Given the description of an element on the screen output the (x, y) to click on. 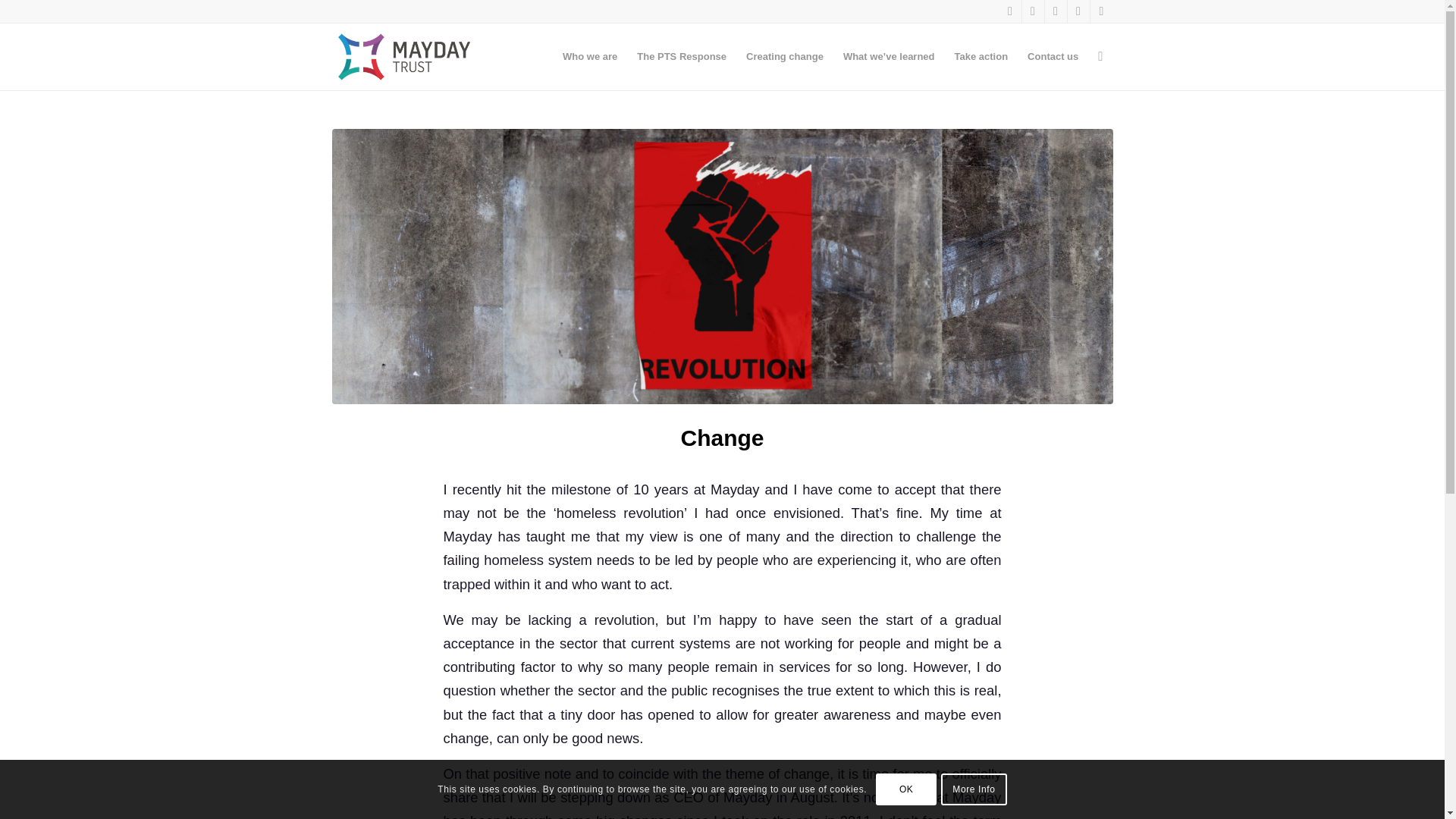
LinkedIn (1056, 11)
Contact us (1052, 56)
Who we are (590, 56)
Twitter (1032, 11)
Creating change (784, 56)
Take action (980, 56)
The PTS Response (681, 56)
Facebook (1010, 11)
Youtube (1101, 11)
Instagram (1078, 11)
